Given the description of an element on the screen output the (x, y) to click on. 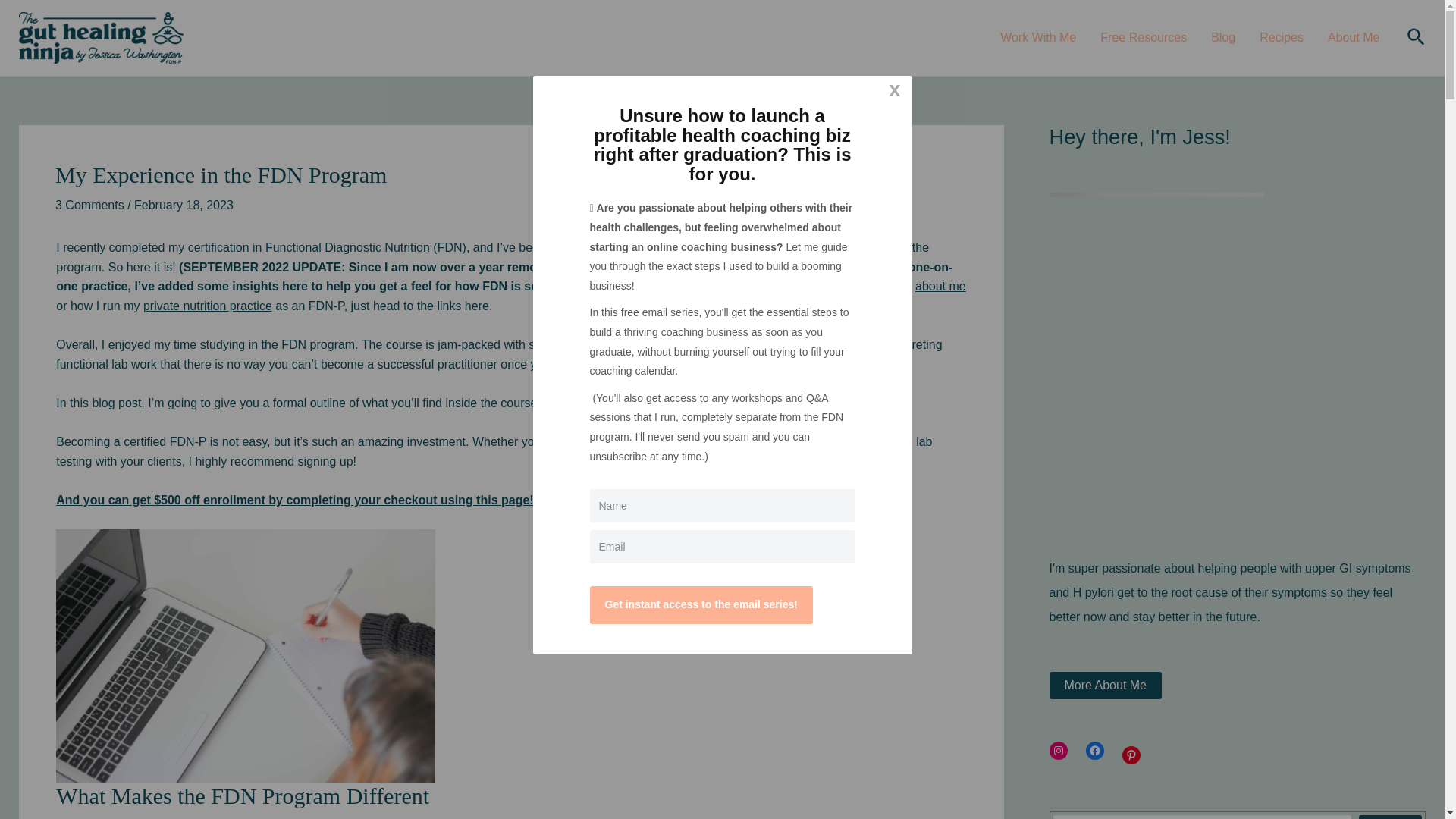
private nutrition practice (207, 305)
About Me (1353, 37)
Free Resources (1142, 37)
Work With Me (1037, 37)
3 Comments (89, 205)
Functional Diagnostic Nutrition (346, 246)
about me (940, 286)
Recipes (1281, 37)
Get instant access to the email series! (700, 605)
